Given the description of an element on the screen output the (x, y) to click on. 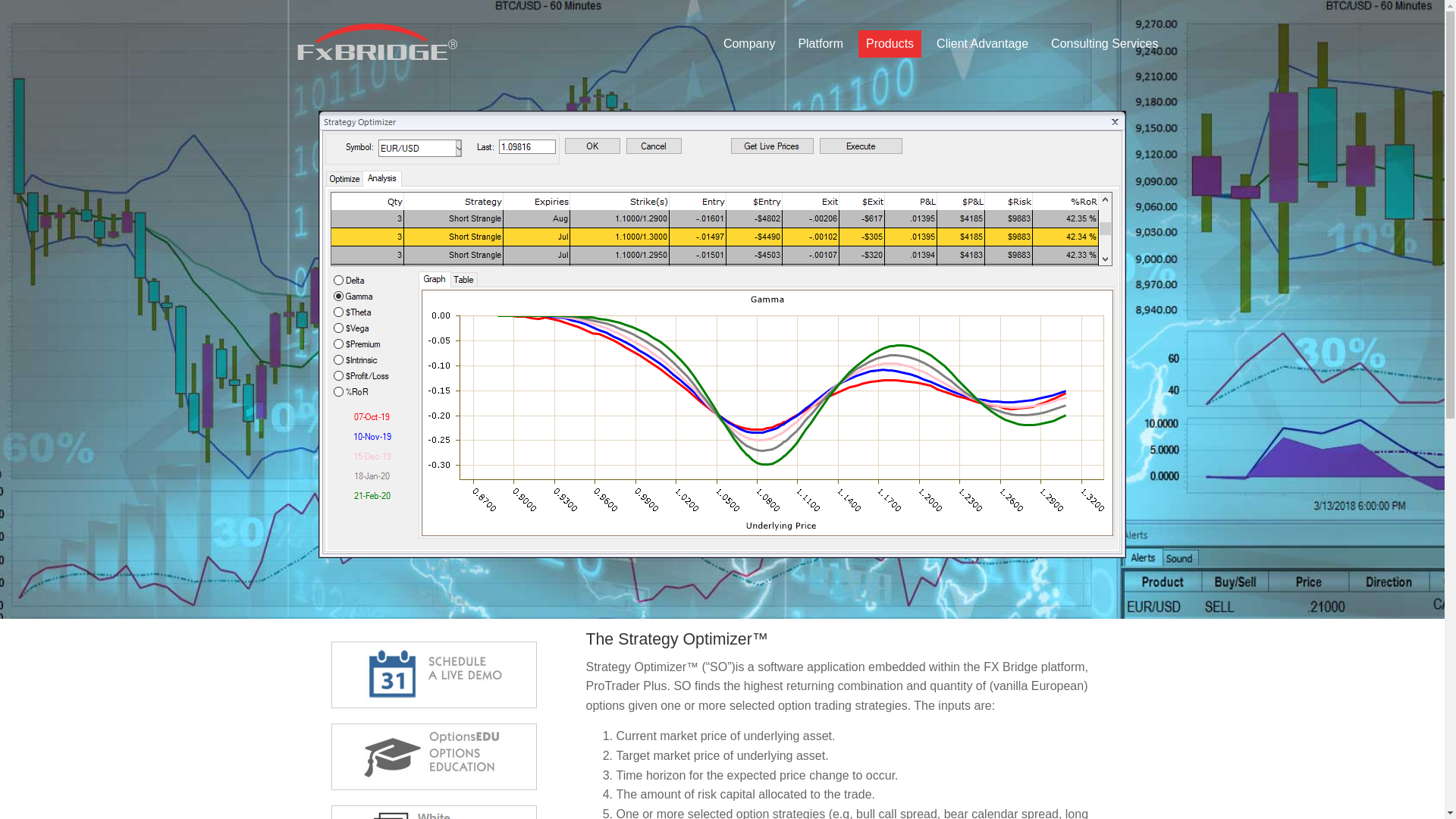
Products (890, 43)
Consulting Services (1104, 43)
Company (749, 43)
Client Advantage (981, 43)
Platform (820, 43)
